Given the description of an element on the screen output the (x, y) to click on. 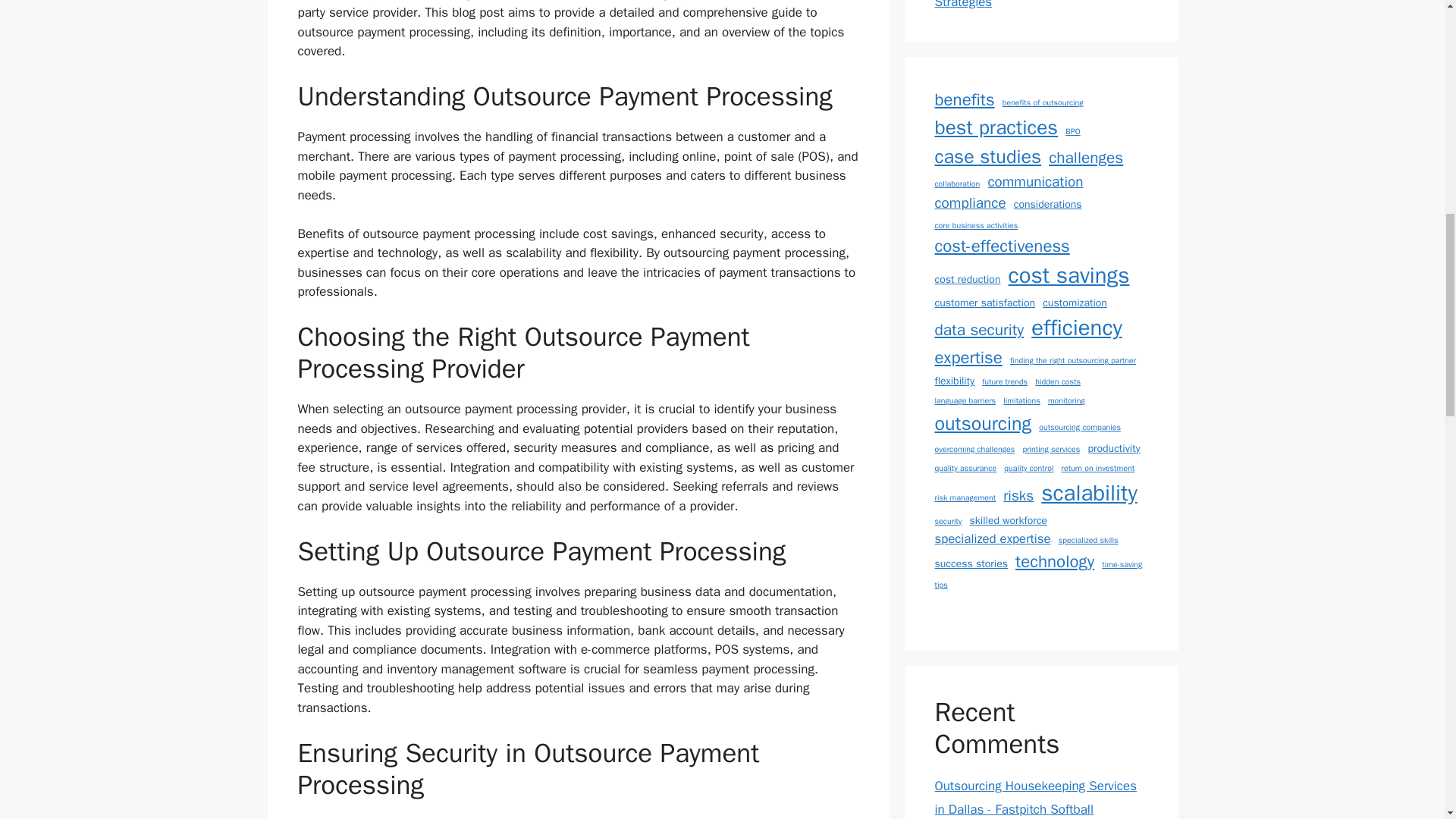
customization (1074, 302)
cost reduction (967, 279)
challenges (1085, 157)
core business activities (975, 225)
compliance (970, 203)
cost-effectiveness (1001, 246)
communication (1035, 182)
hidden costs (1057, 381)
data security (978, 330)
expertise (967, 357)
customer satisfaction (984, 302)
best practices (996, 127)
flexibility (954, 381)
finding the right outsourcing partner (1072, 360)
